Given the description of an element on the screen output the (x, y) to click on. 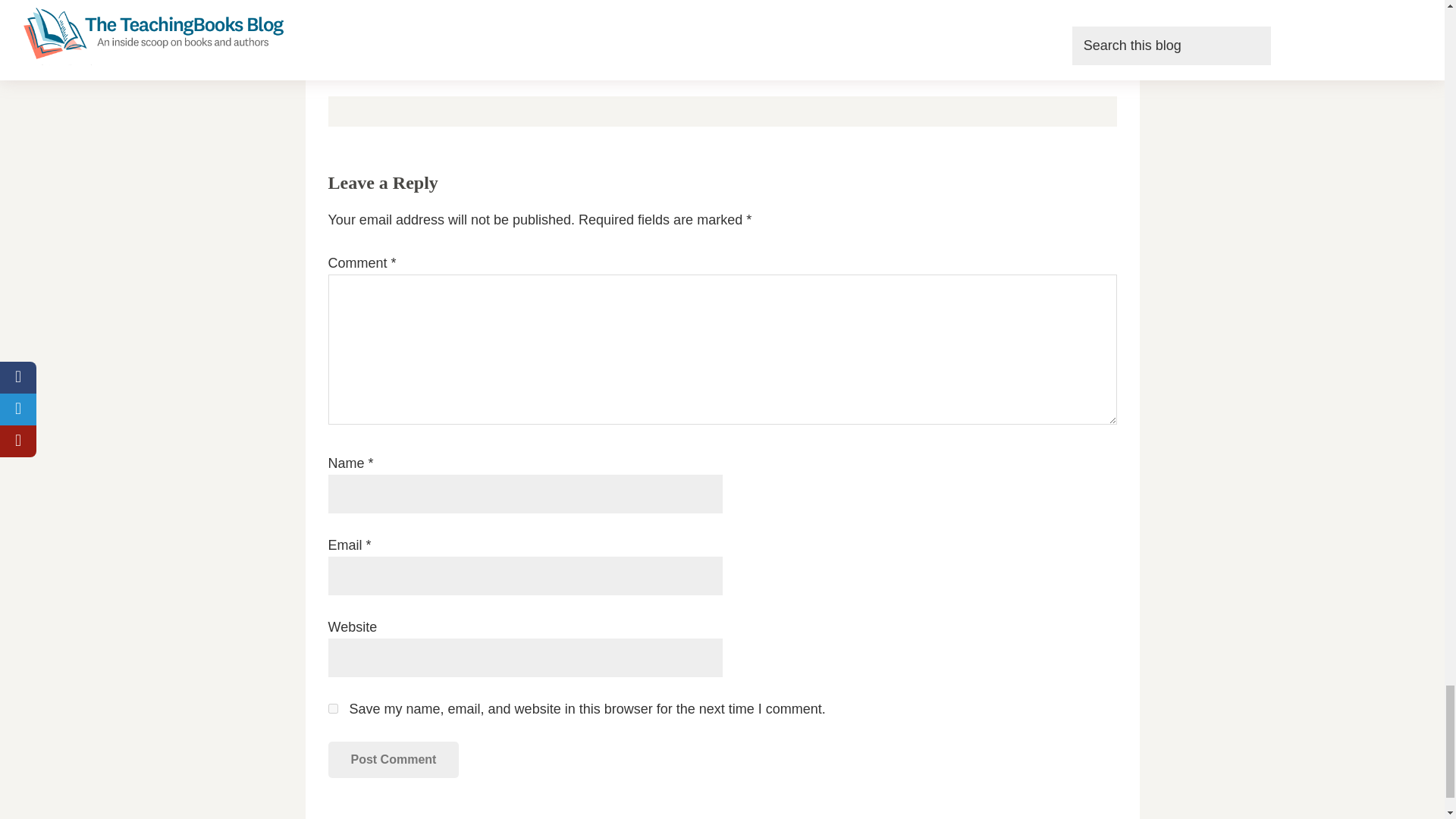
yes (332, 708)
Post Comment (392, 760)
Post Comment (392, 760)
